Given the description of an element on the screen output the (x, y) to click on. 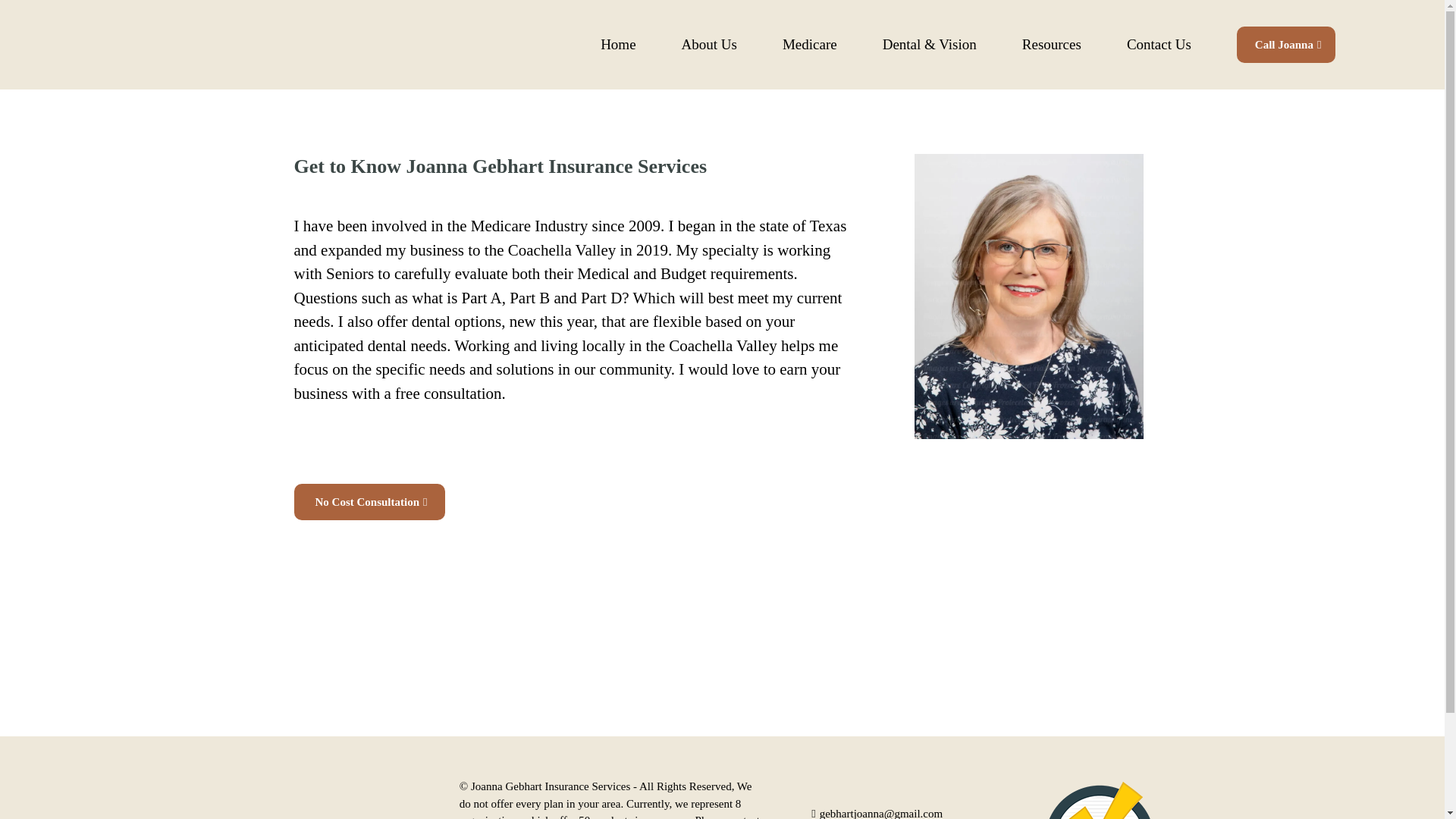
Call Joanna (1286, 44)
Verified Local Agent on Medicare Agents Hub - Joanna Gebhart (1098, 800)
No Cost Consultation (369, 502)
Medicare (810, 44)
Resources (1050, 44)
Contact Us (1158, 44)
About Us (709, 44)
Home (618, 44)
